Given the description of an element on the screen output the (x, y) to click on. 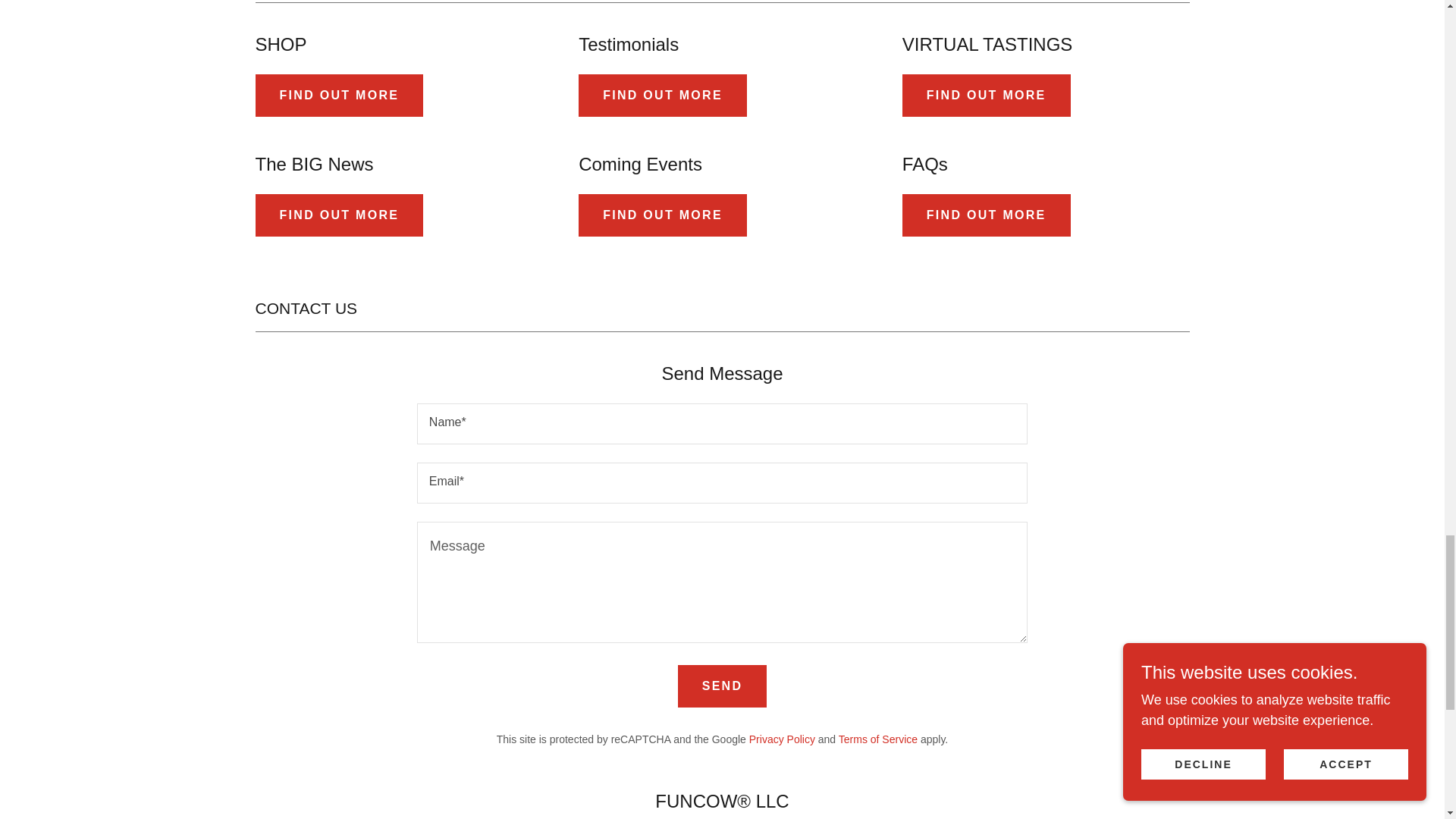
FIND OUT MORE (986, 95)
SEND (722, 686)
FIND OUT MORE (986, 215)
FIND OUT MORE (662, 215)
Privacy Policy (782, 739)
Terms of Service (877, 739)
FIND OUT MORE (338, 95)
FIND OUT MORE (662, 95)
FIND OUT MORE (338, 215)
